Given the description of an element on the screen output the (x, y) to click on. 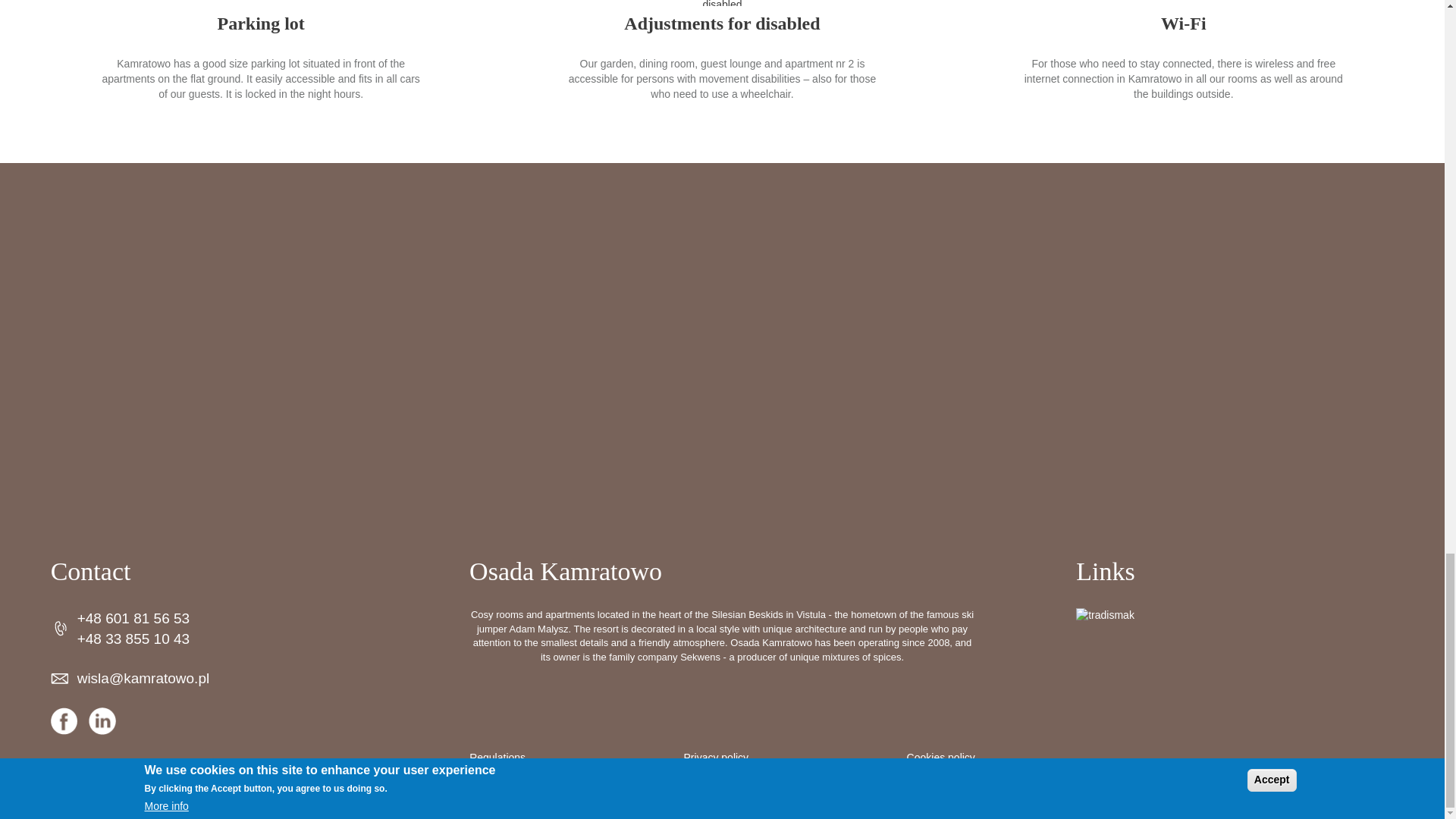
regulations (496, 758)
cookies policy (941, 758)
privacy policy (716, 758)
